Given the description of an element on the screen output the (x, y) to click on. 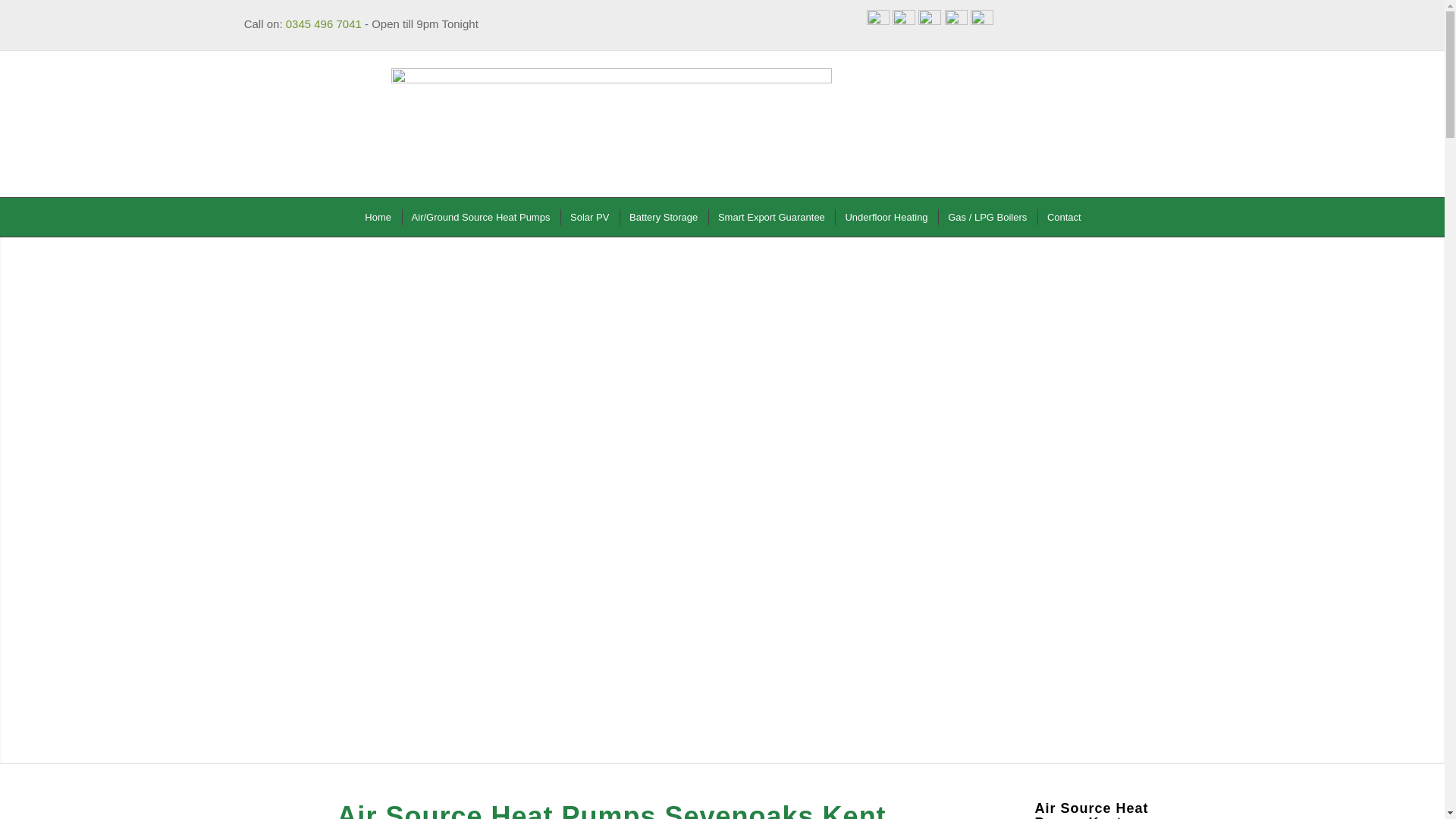
Battery Storage (662, 217)
Contact (1062, 217)
Smart Export Guarantee (769, 217)
0345 496 7041 (323, 23)
Solar PV (587, 217)
Home (376, 217)
Underfloor Heating (884, 217)
